Given the description of an element on the screen output the (x, y) to click on. 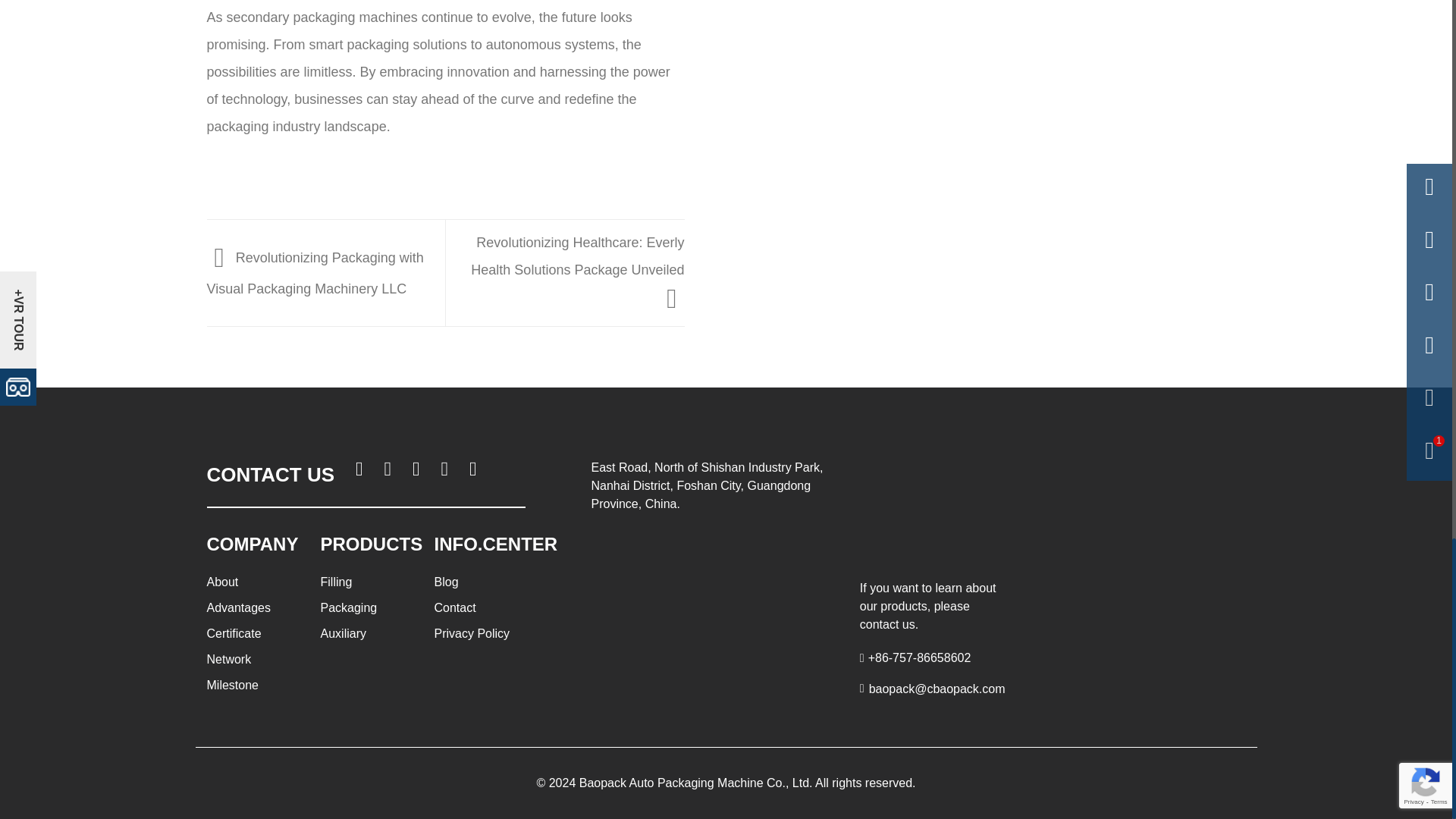
Milestone (231, 684)
Advantages (238, 607)
Blog (445, 581)
Privacy Policy (471, 633)
Auxiliary (342, 633)
Packaging (348, 607)
map (711, 578)
Certificate (233, 633)
Contact (454, 607)
About (222, 581)
Filling (336, 581)
Network (228, 658)
